Given the description of an element on the screen output the (x, y) to click on. 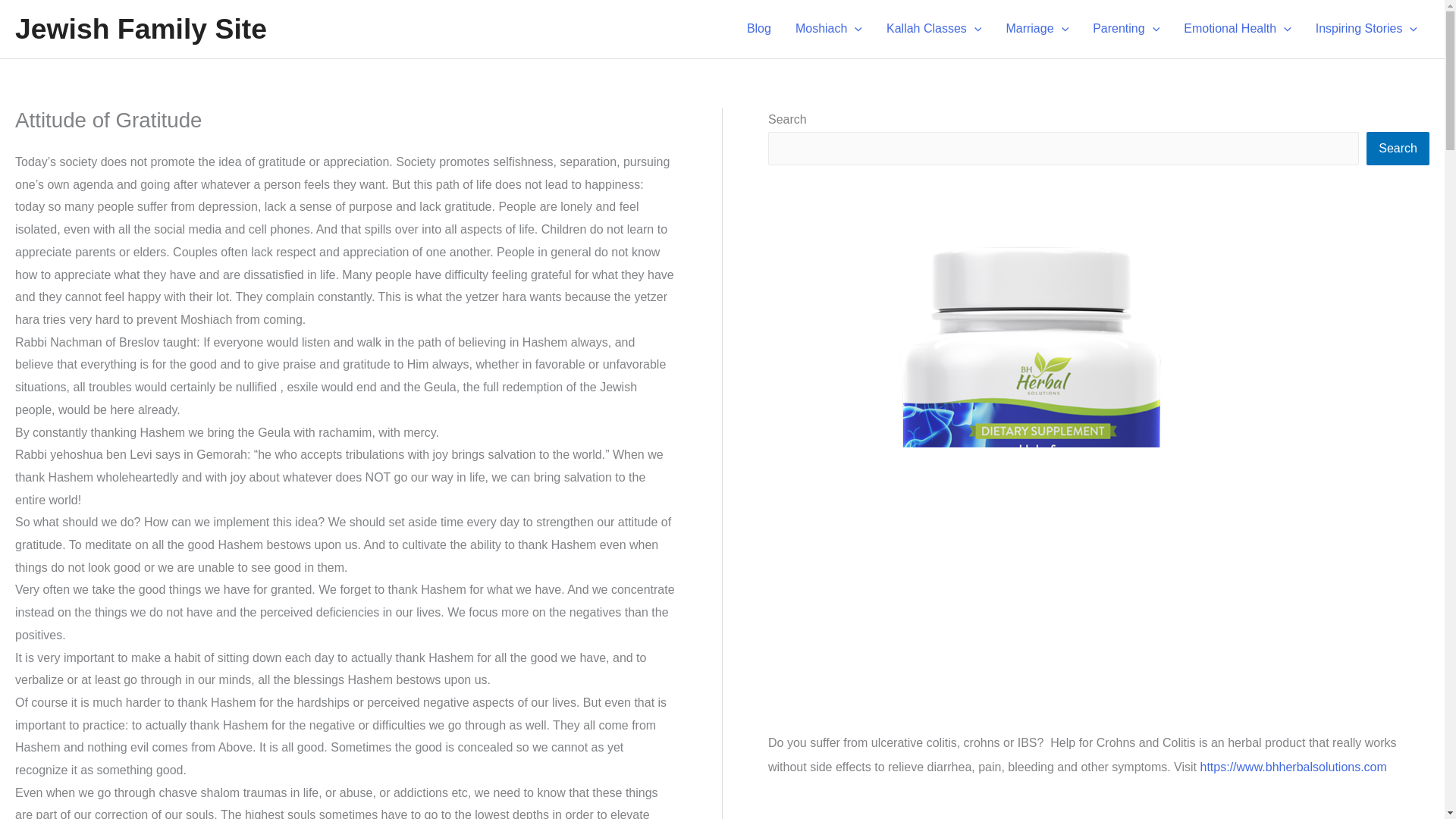
Marriage (1036, 28)
Blog (759, 28)
Kallah Classes (933, 28)
Moshiach (829, 28)
Emotional Health (1237, 28)
Jewish Family Site (140, 29)
Parenting (1126, 28)
